Given the description of an element on the screen output the (x, y) to click on. 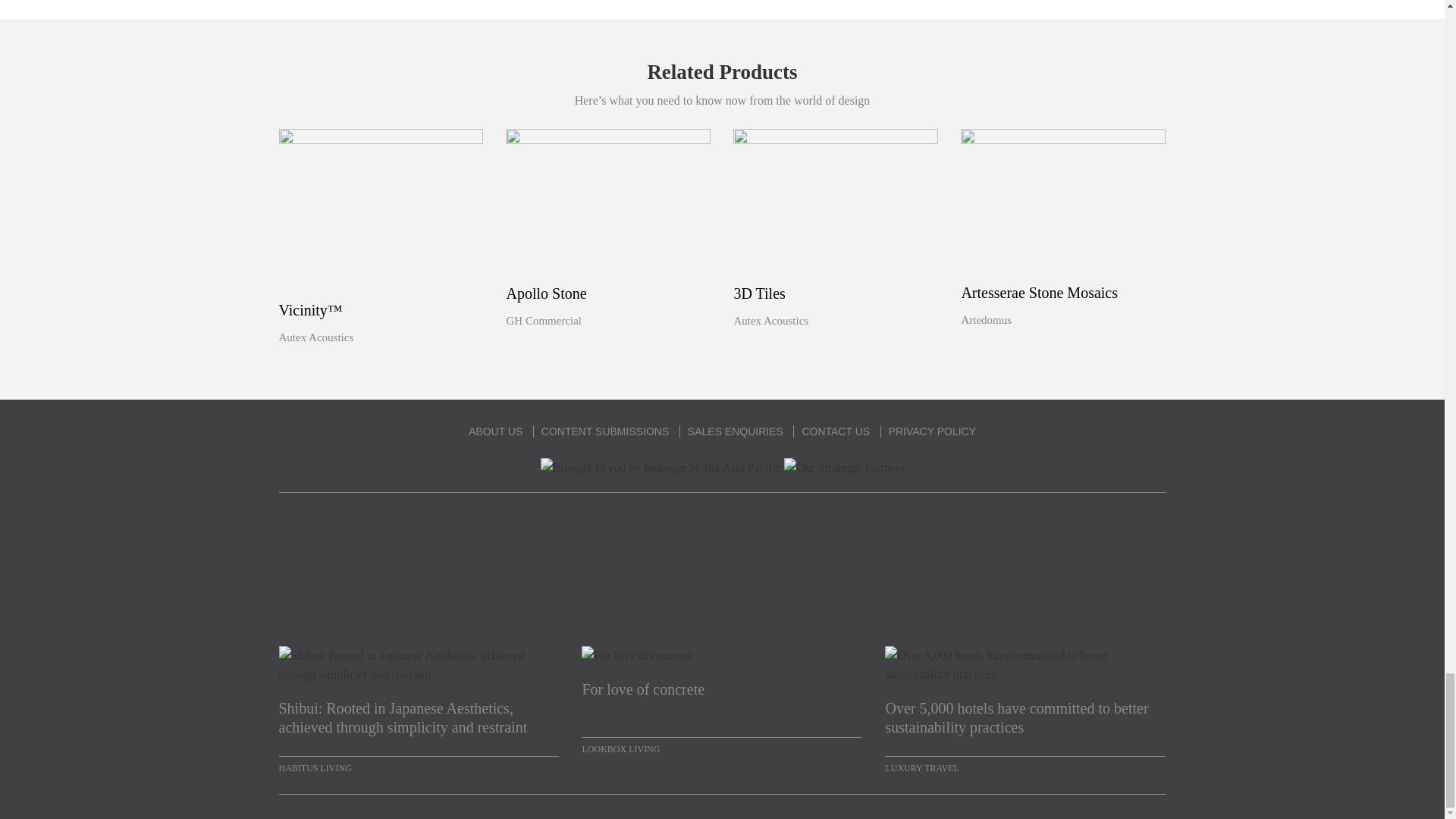
For love of concrete (720, 699)
Our Strategic Partners (844, 466)
Brought to you by Indesign Media Asia Pacific (660, 466)
